Given the description of an element on the screen output the (x, y) to click on. 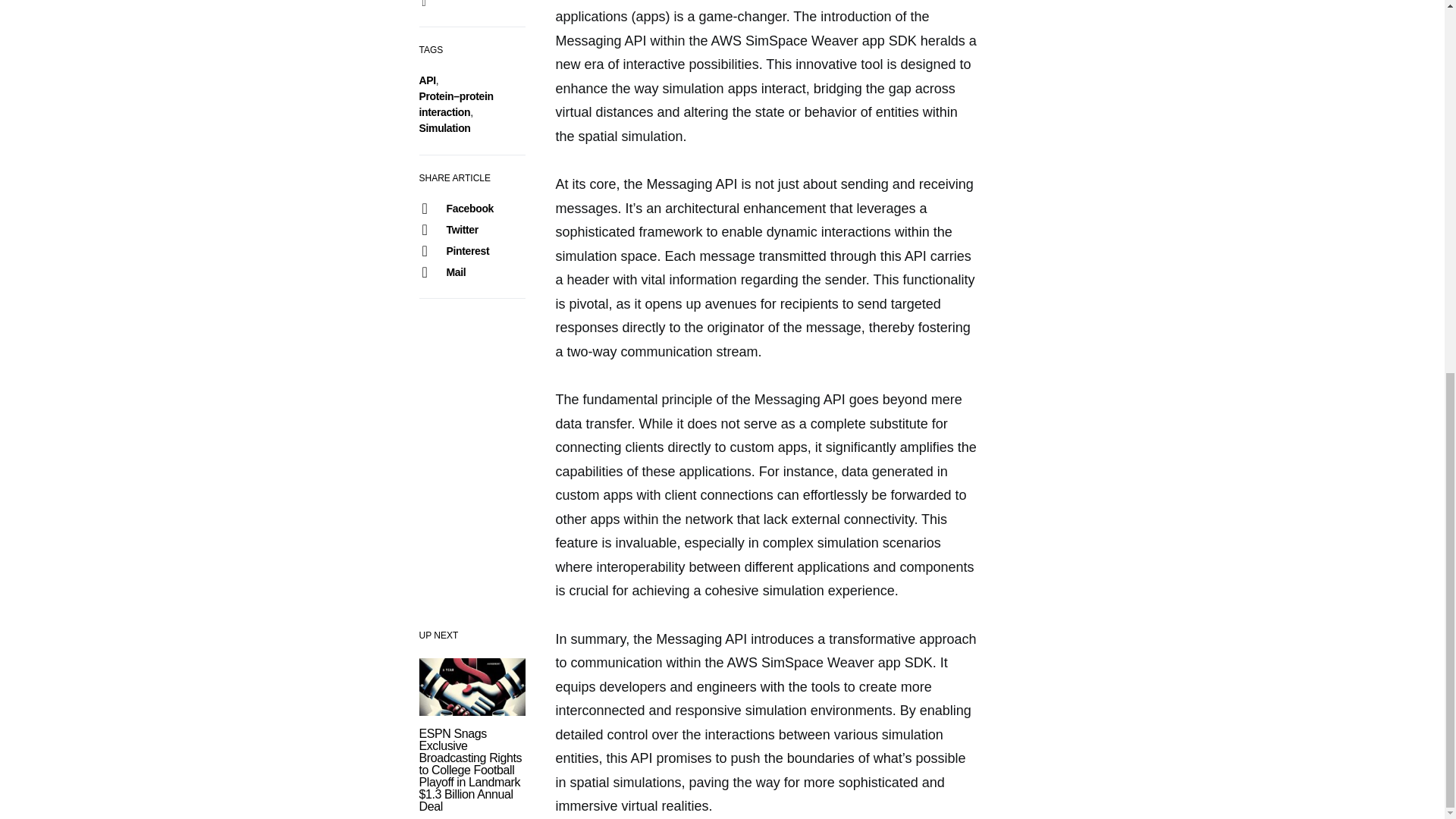
Mail (470, 271)
Facebook (470, 208)
Pinterest (470, 250)
API (427, 80)
Simulation (444, 128)
Twitter (470, 229)
